Given the description of an element on the screen output the (x, y) to click on. 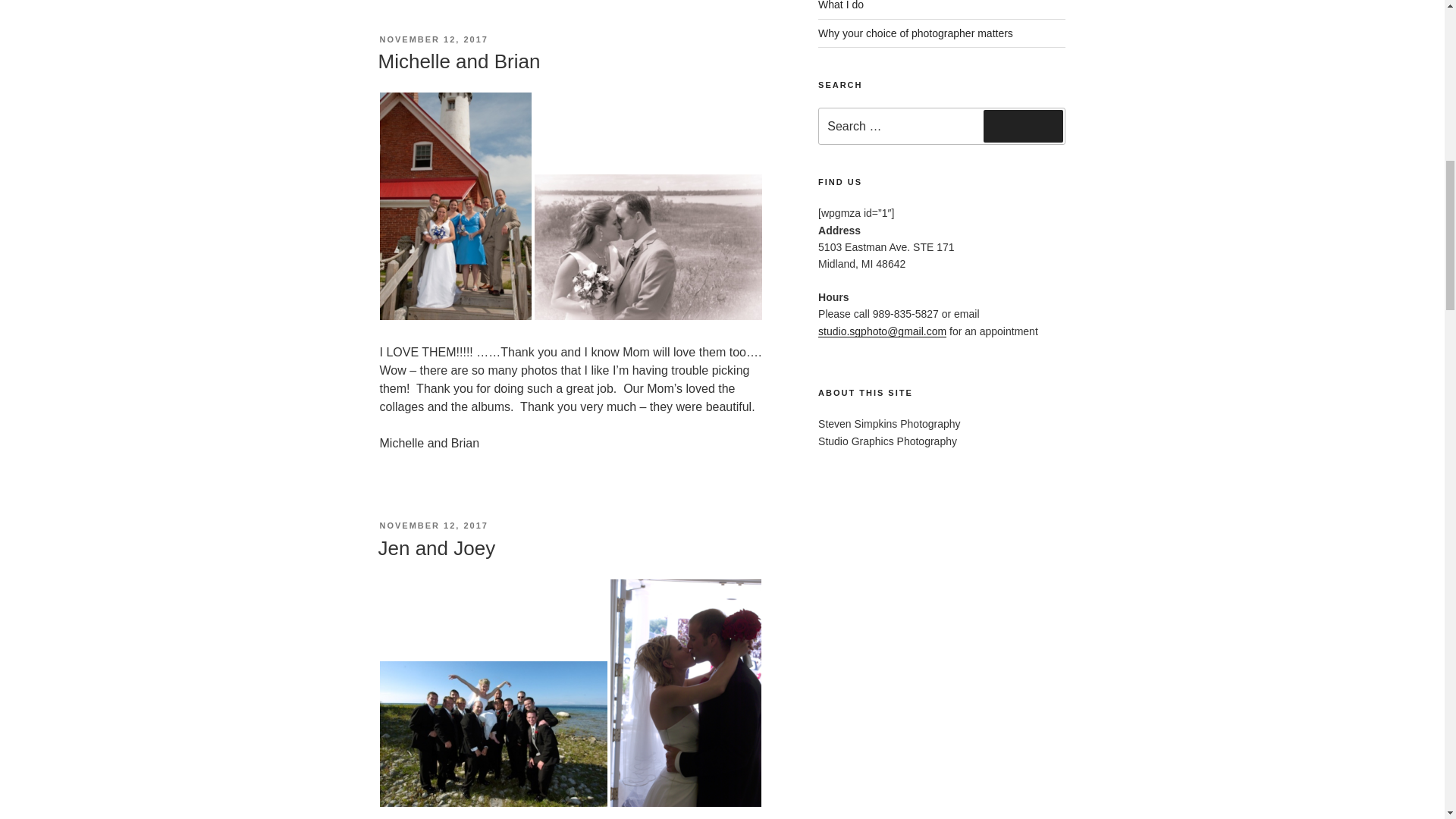
NOVEMBER 12, 2017 (432, 39)
Jen and Joey (436, 548)
Michelle and Brian (458, 60)
NOVEMBER 12, 2017 (432, 524)
